Given the description of an element on the screen output the (x, y) to click on. 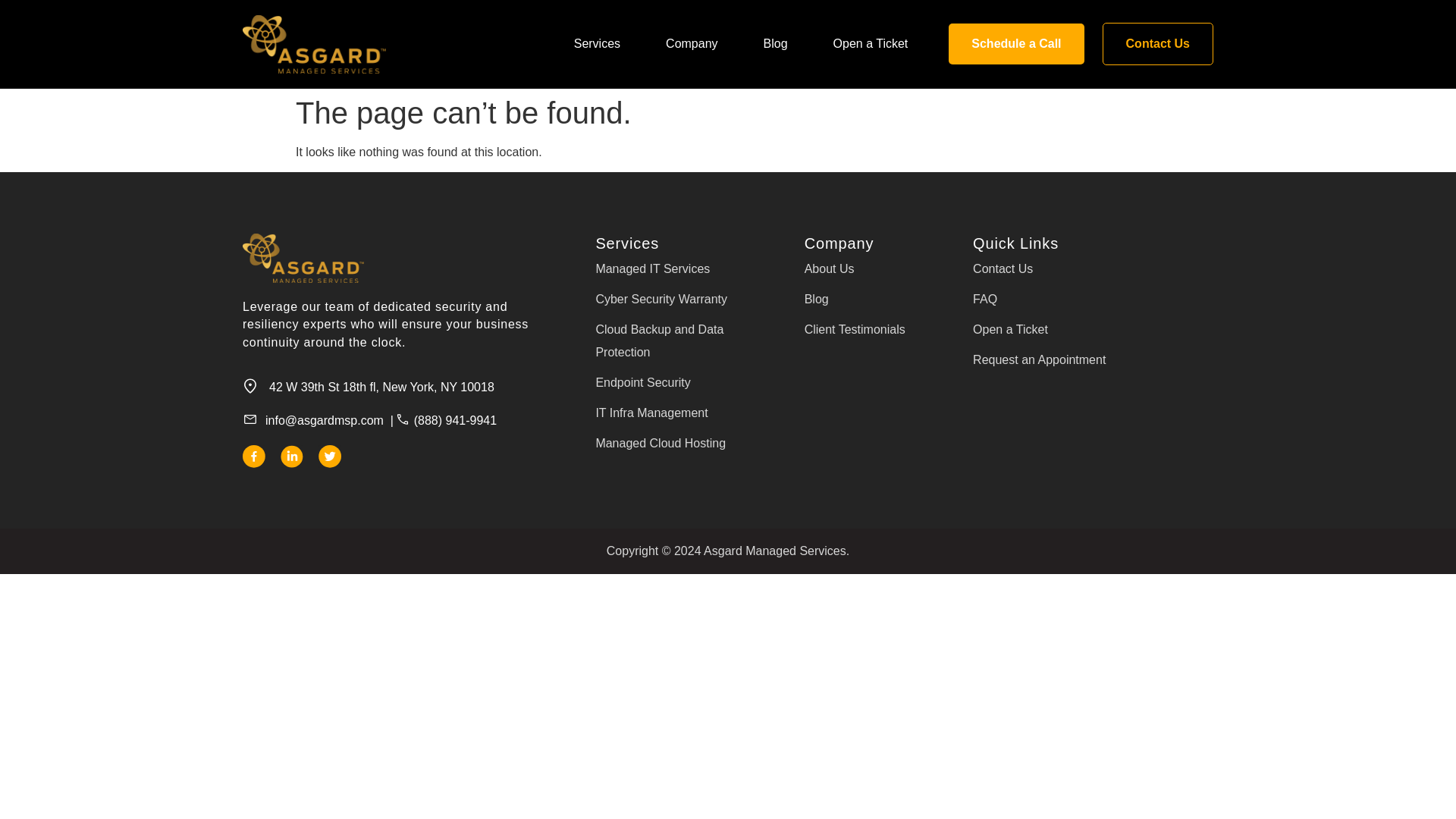
Blog (774, 44)
Services (596, 44)
Contact Us (1157, 43)
Open a Ticket (870, 44)
Managed IT Services (675, 268)
Schedule a Call (1016, 43)
Cyber Security Warranty (675, 299)
Company (691, 44)
